Given the description of an element on the screen output the (x, y) to click on. 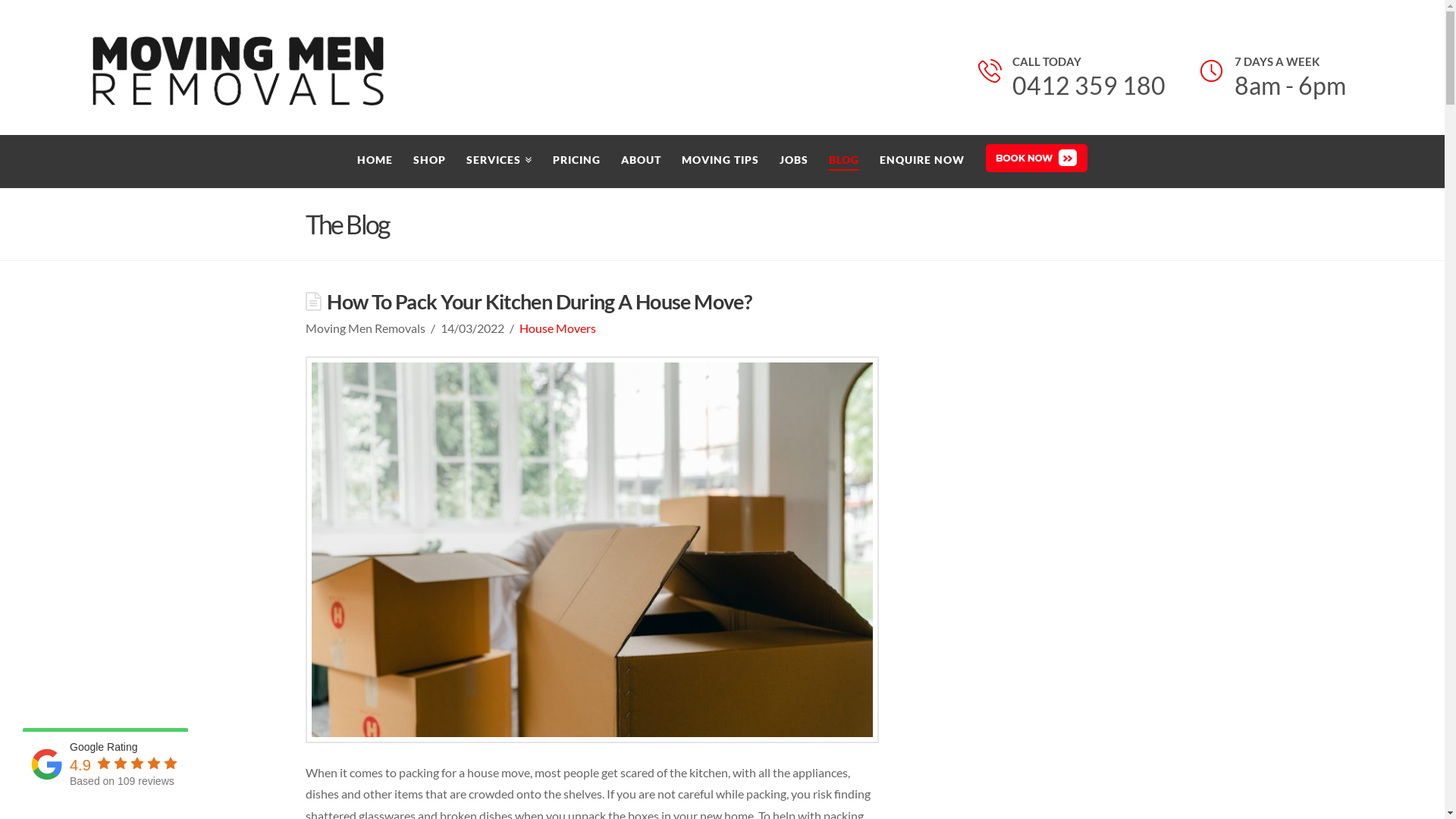
JOBS Element type: text (793, 161)
ABOUT Element type: text (640, 161)
0412 359 180 Element type: text (1088, 90)
BLOG Element type: text (843, 161)
PRICING Element type: text (576, 161)
ENQUIRE NOW Element type: text (921, 161)
MOVING TIPS Element type: text (719, 161)
Removalists Melbourne, Cheap Furniture & House Removals Element type: hover (237, 78)
SERVICES Element type: text (498, 161)
HOME Element type: text (374, 161)
How To Pack Your Kitchen During A House Move? Element type: text (538, 300)
House Movers Element type: text (557, 327)
SHOP Element type: text (428, 161)
